Given the description of an element on the screen output the (x, y) to click on. 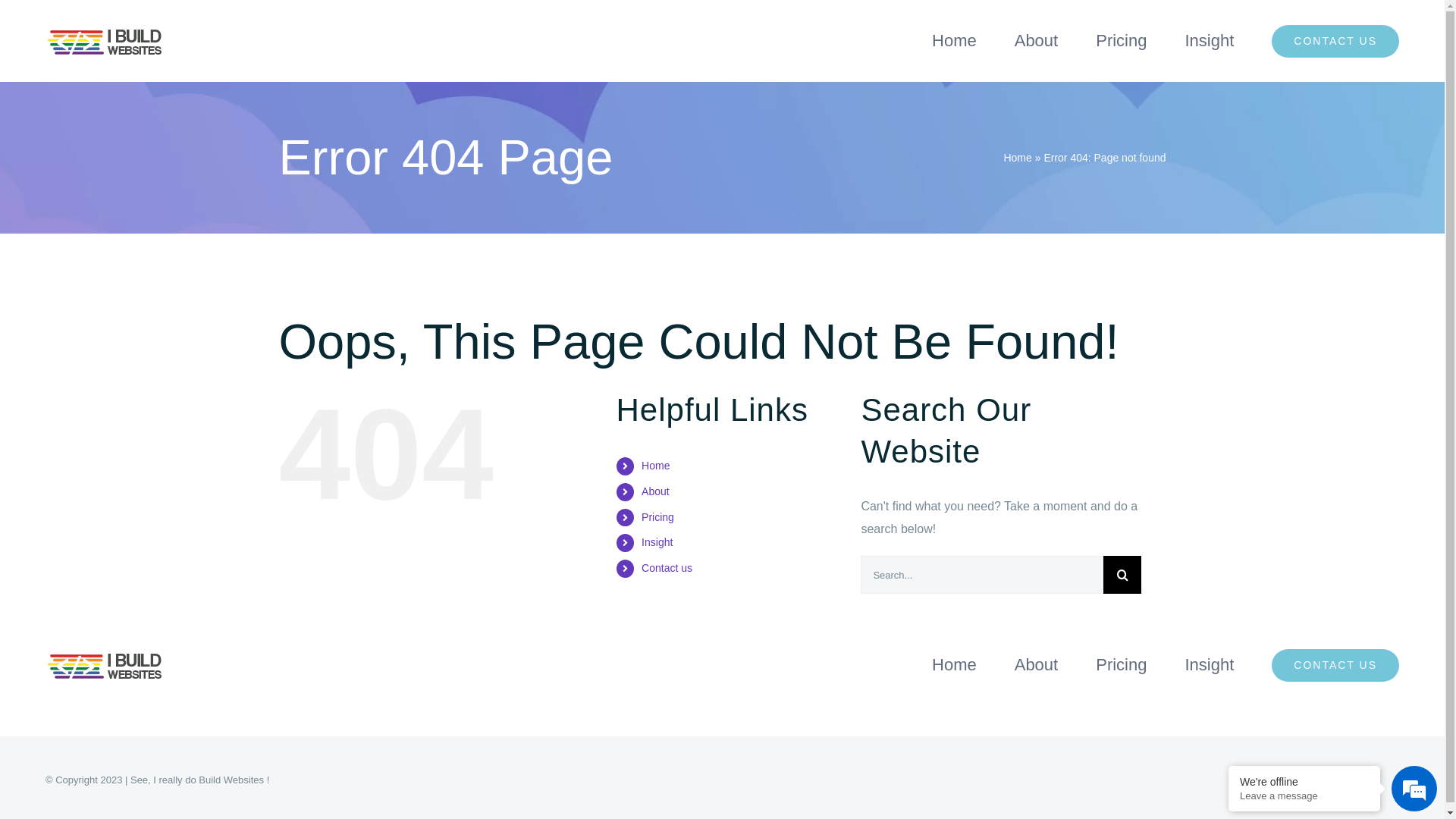
Home Element type: text (953, 40)
Home Element type: text (953, 664)
Insight Element type: text (656, 542)
Home Element type: text (1017, 157)
CONTACT US Element type: text (1335, 664)
About Element type: text (1036, 40)
About Element type: text (655, 491)
Pricing Element type: text (657, 517)
Pricing Element type: text (1120, 664)
Insight Element type: text (1208, 664)
CONTACT US Element type: text (1335, 40)
Pricing Element type: text (1120, 40)
Home Element type: text (655, 465)
Contact us Element type: text (666, 567)
About Element type: text (1036, 664)
Insight Element type: text (1208, 40)
